Given the description of an element on the screen output the (x, y) to click on. 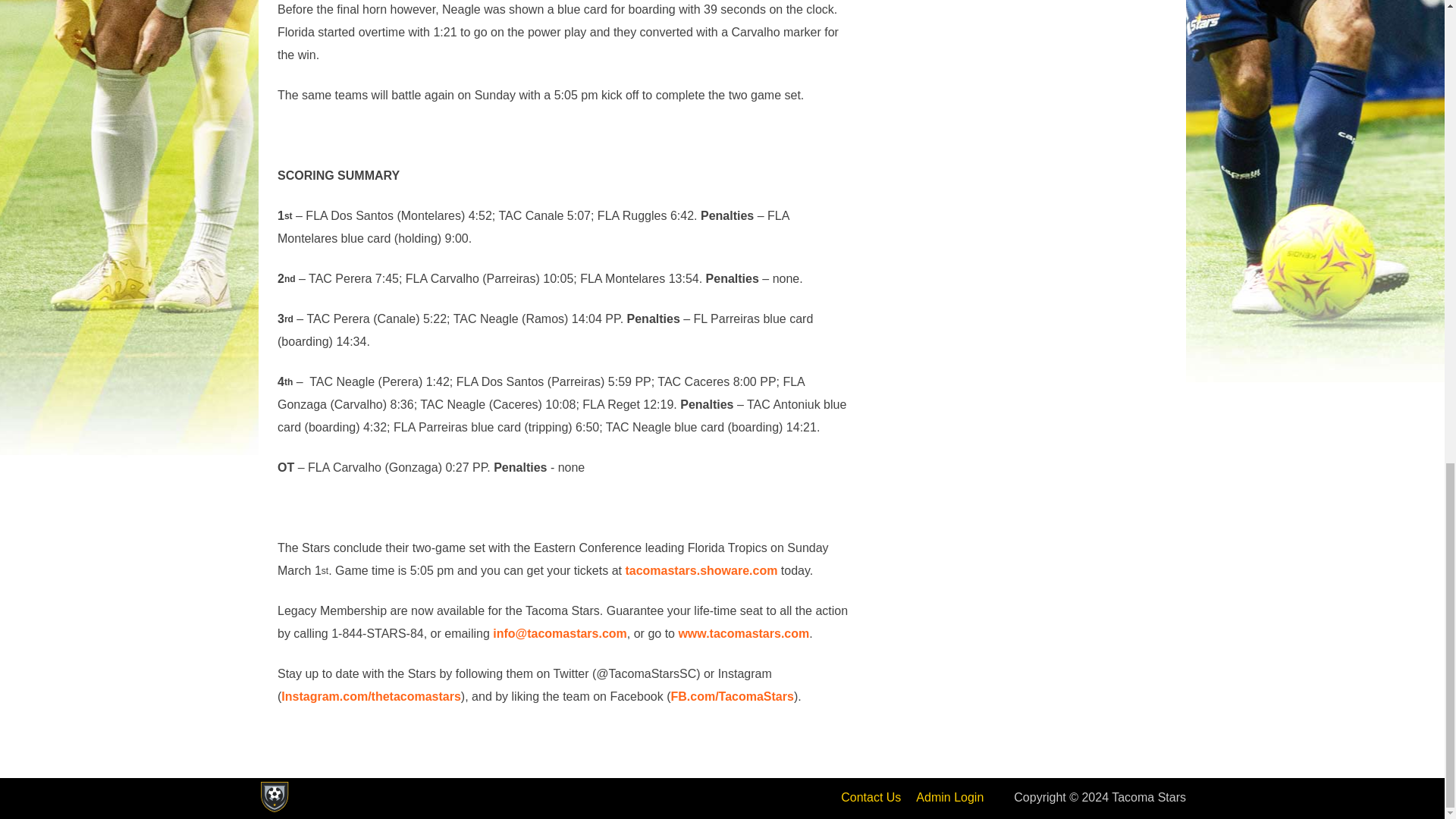
Powered by SoccerShift (273, 797)
www.tacomastars.com (743, 633)
tacomastars.showare.com (700, 570)
